Given the description of an element on the screen output the (x, y) to click on. 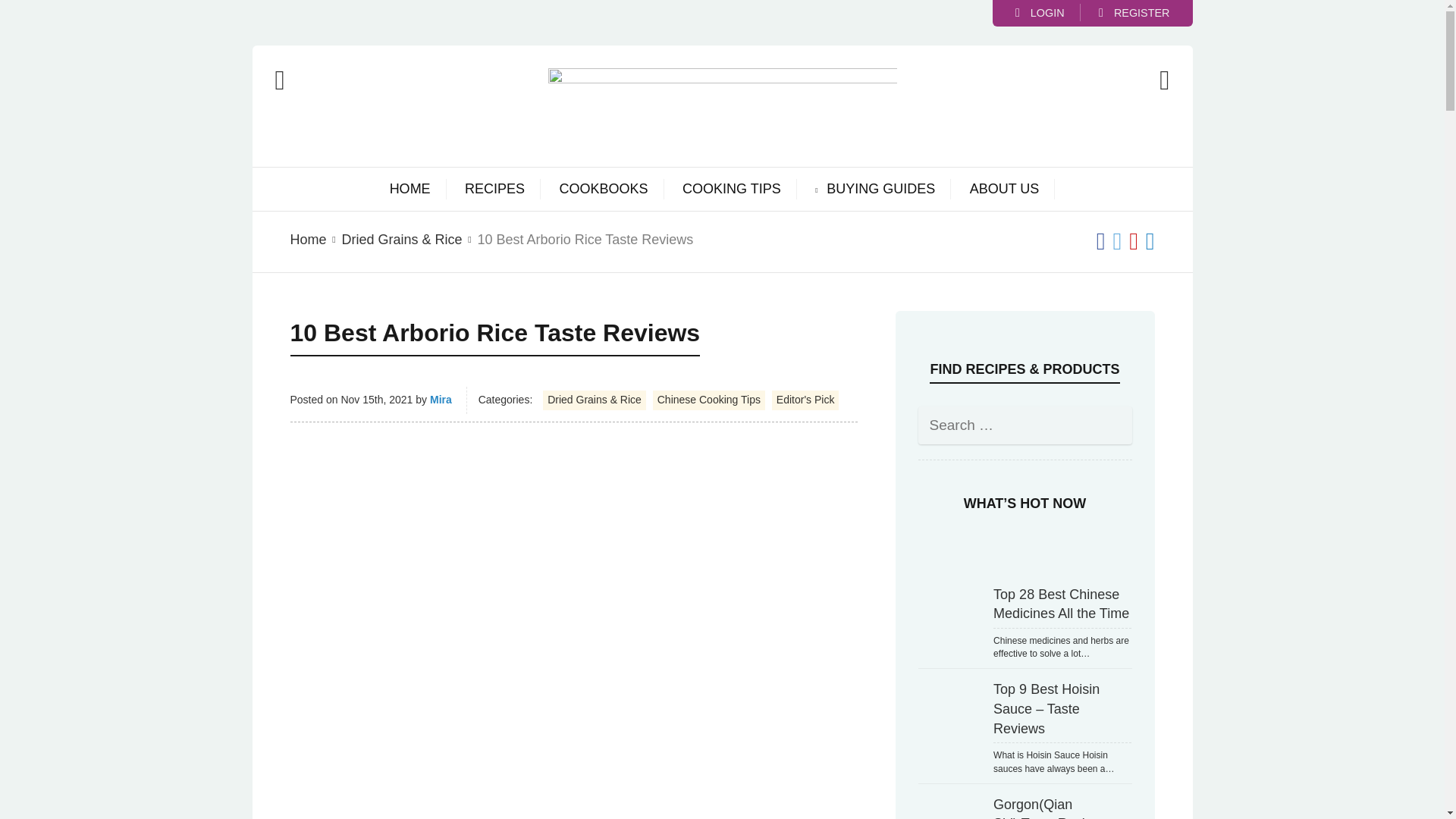
Search for: (1024, 425)
COOKING TIPS (731, 189)
BUYING GUIDES (880, 189)
ABOUT US (1004, 189)
Editor's Pick (805, 400)
RECIPES (494, 189)
Mira (440, 399)
LOGIN (1039, 12)
COOKBOOKS (603, 189)
HOME (410, 189)
REGISTER (1134, 12)
Top 28 Best Chinese Medicines All the Time (949, 613)
Home (307, 240)
Chinese Cooking Tips (708, 400)
